Given the description of an element on the screen output the (x, y) to click on. 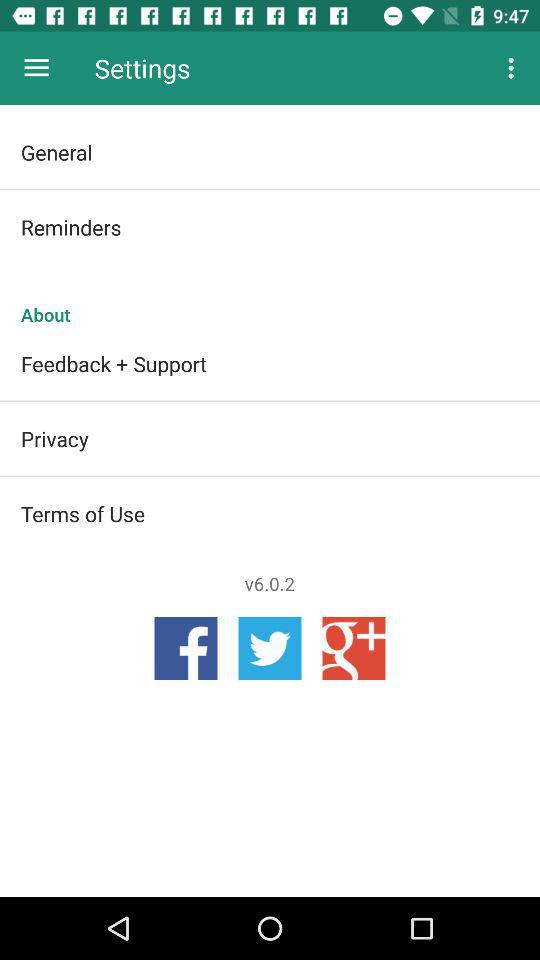
turn on item to the left of settings (36, 68)
